Given the description of an element on the screen output the (x, y) to click on. 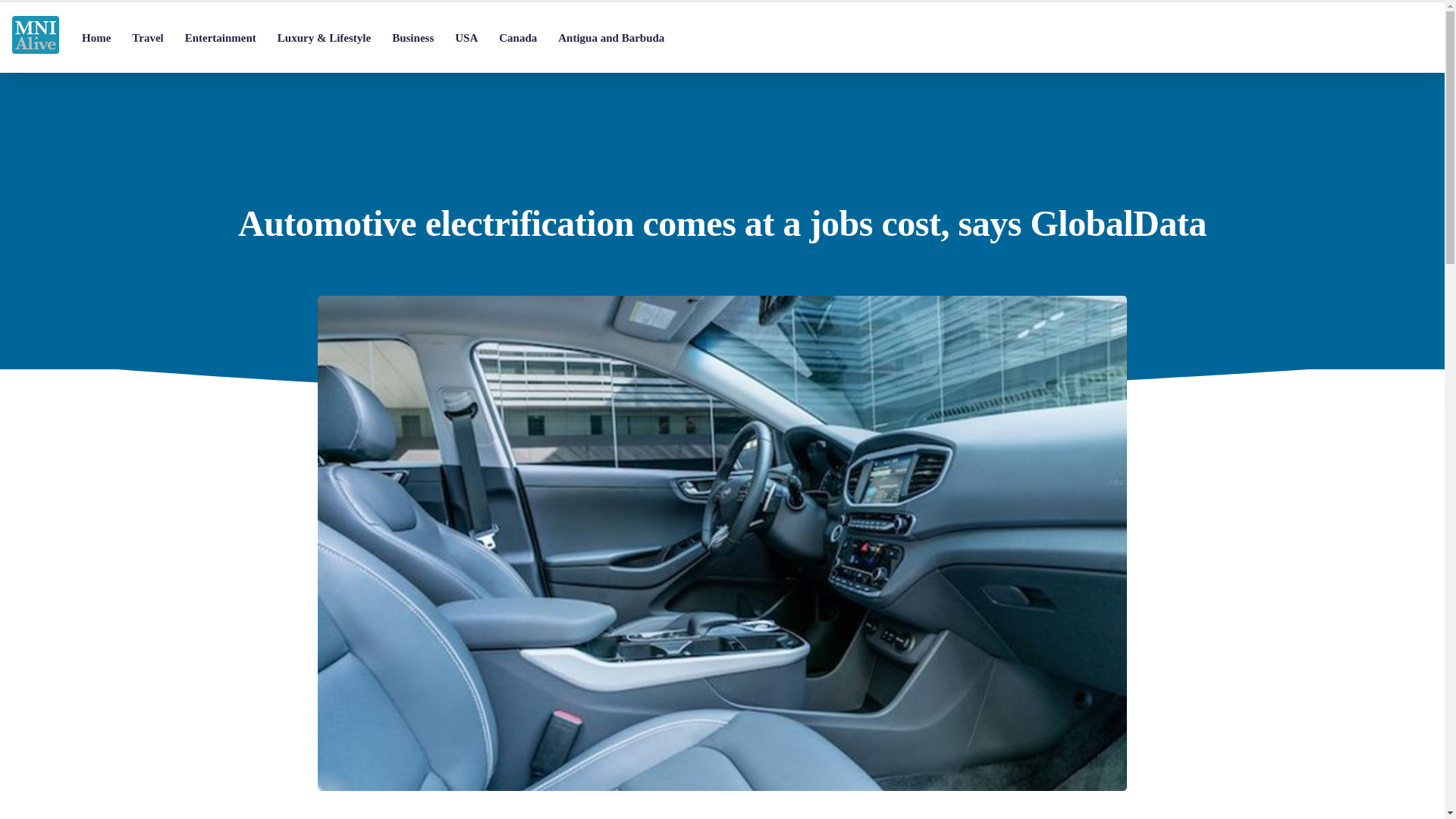
USA (465, 37)
Entertainment (220, 37)
Home (95, 37)
Travel (146, 37)
Antigua and Barbuda (611, 37)
Canada (517, 37)
Business (412, 37)
